Given the description of an element on the screen output the (x, y) to click on. 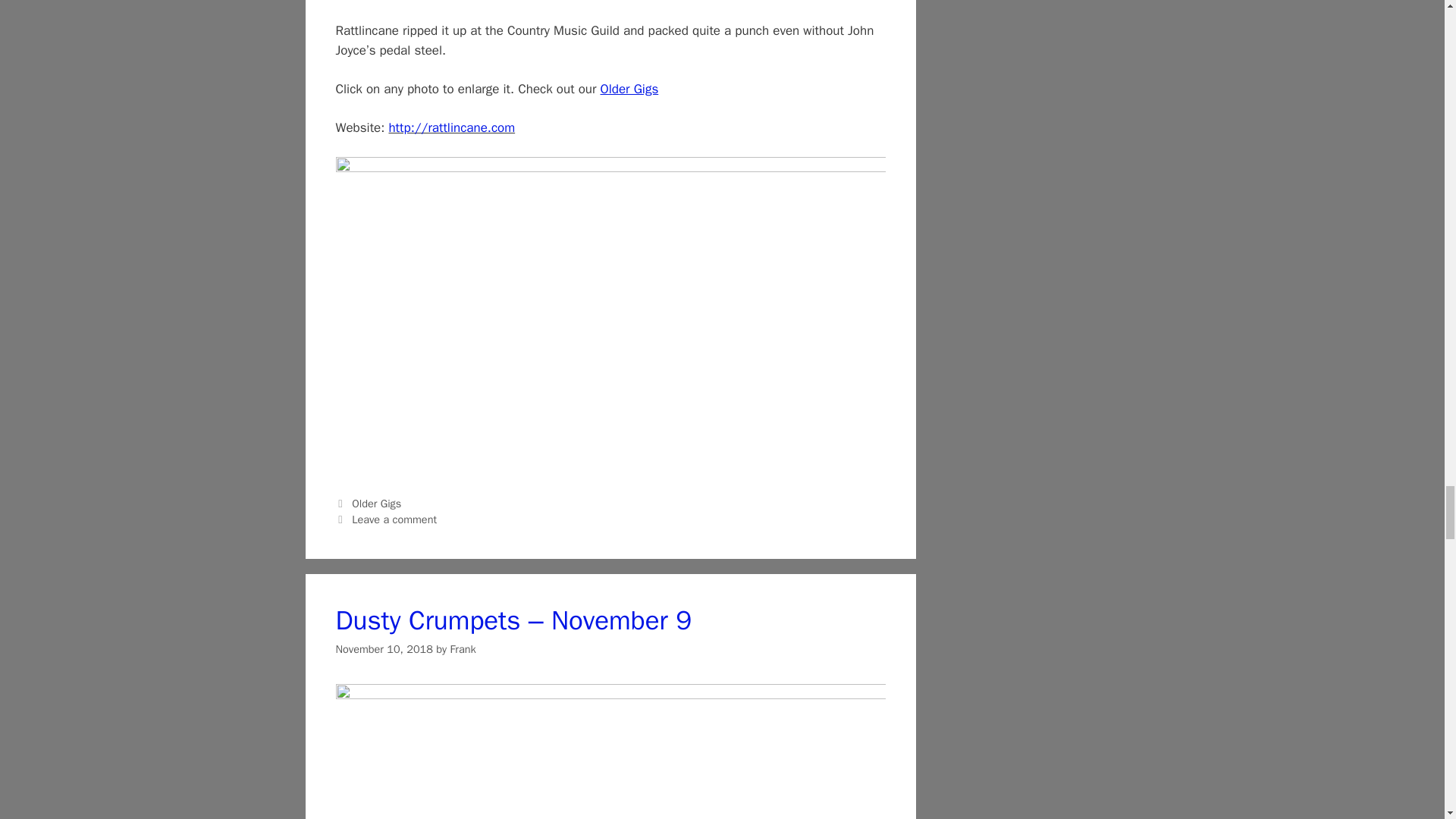
View all posts by Frank (462, 649)
